Given the description of an element on the screen output the (x, y) to click on. 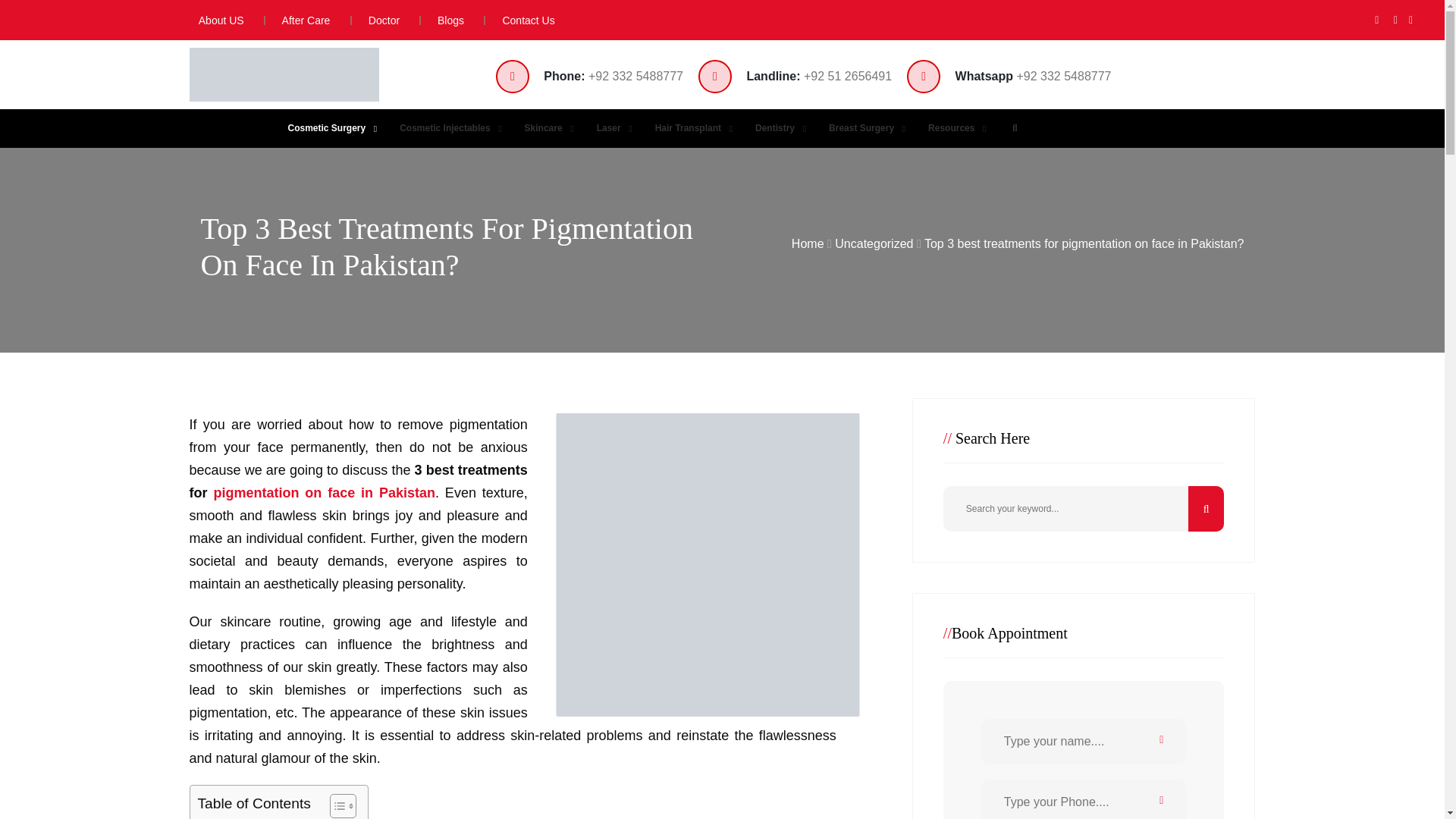
Blogs (441, 19)
Contact Us (518, 19)
About US (213, 19)
After Care (296, 19)
Doctor (376, 19)
Cosmetic Surgery (329, 128)
